Given the description of an element on the screen output the (x, y) to click on. 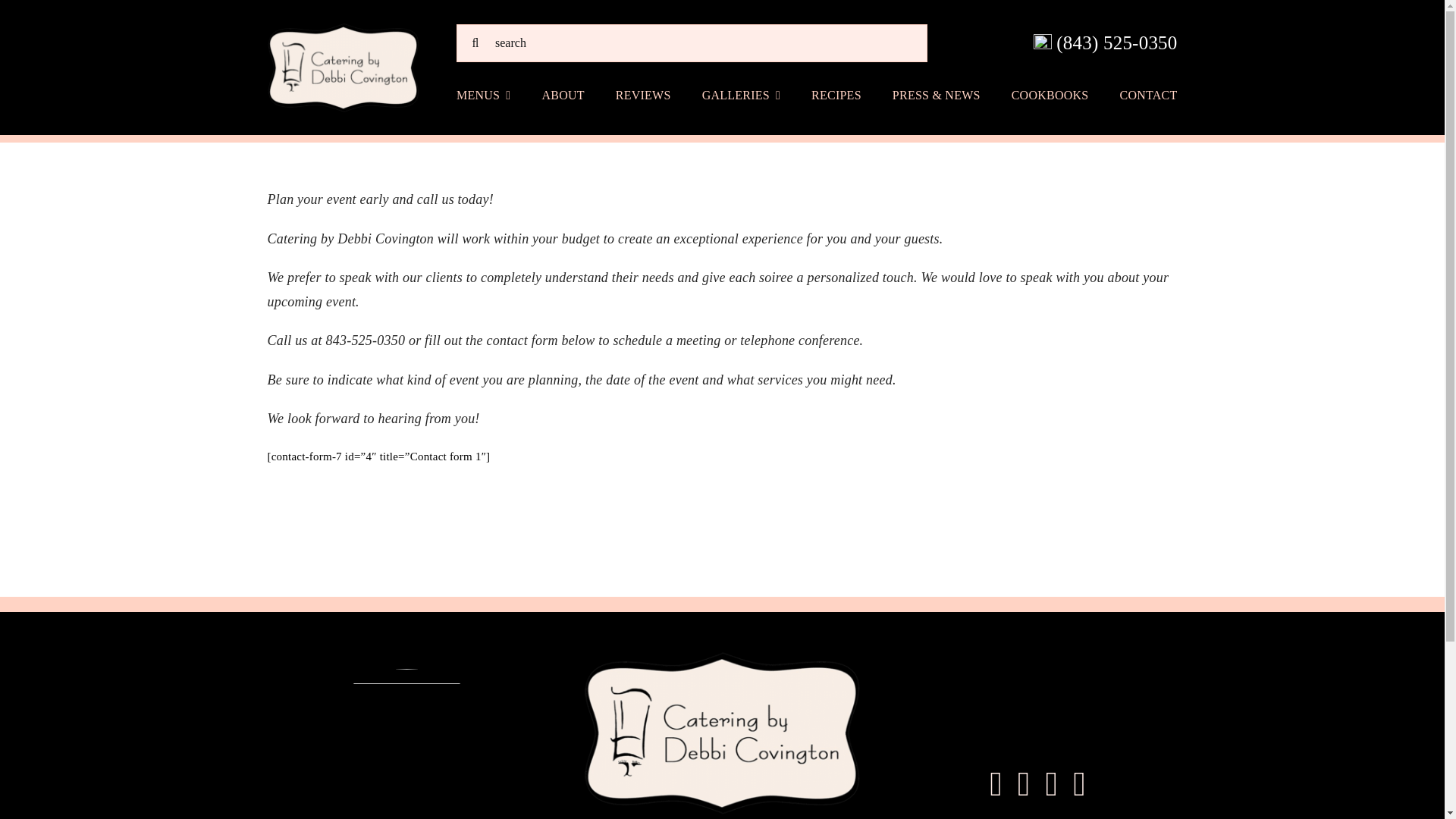
COOKBOOKS (1050, 95)
MENUS (484, 95)
REVIEWS (643, 95)
catering by debbi covington logo 600px (721, 733)
GALLERIES (740, 95)
CONTACT (1147, 95)
RECIPES (835, 95)
